Given the description of an element on the screen output the (x, y) to click on. 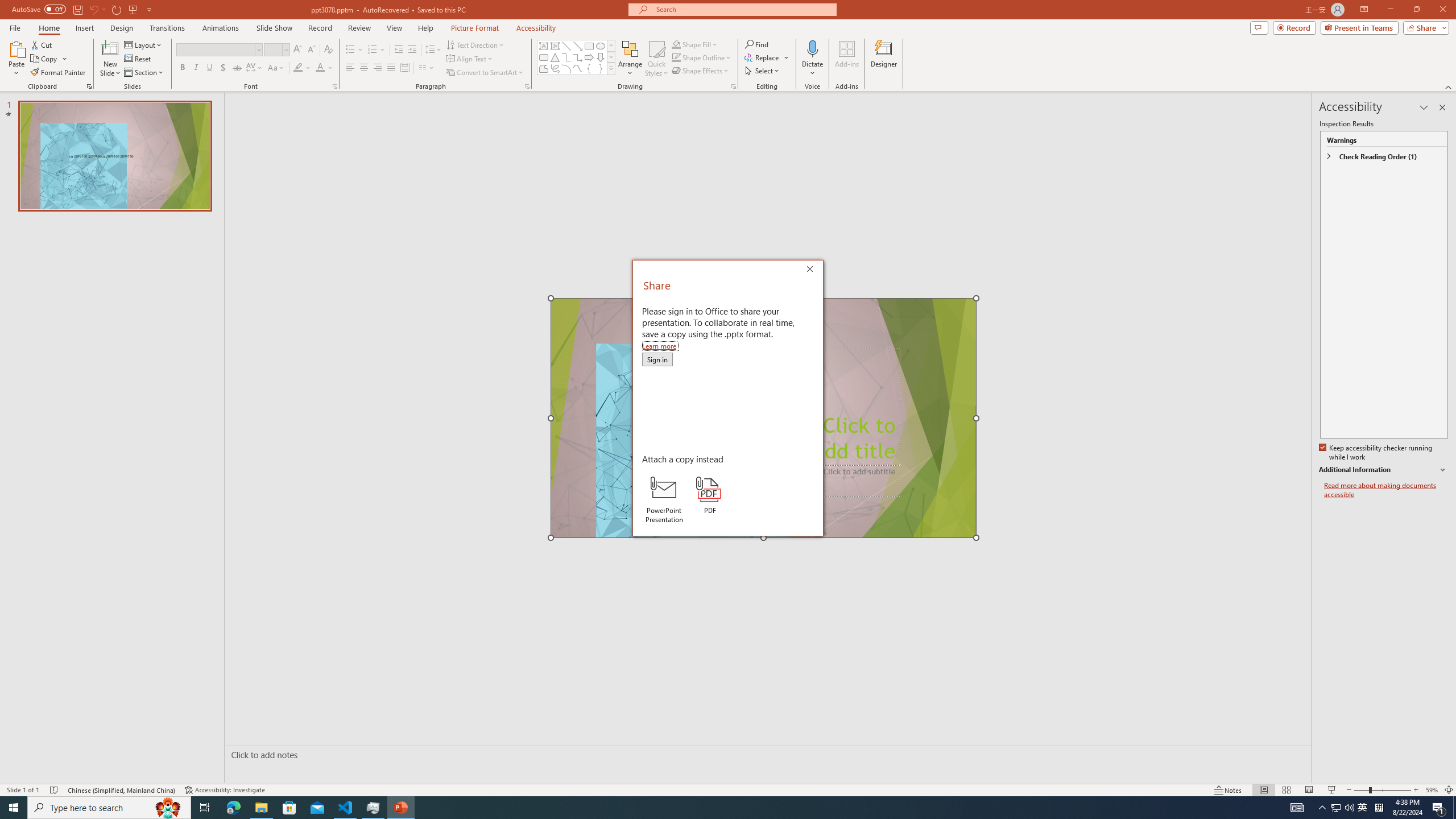
Read more about making documents accessible (1385, 489)
